Given the description of an element on the screen output the (x, y) to click on. 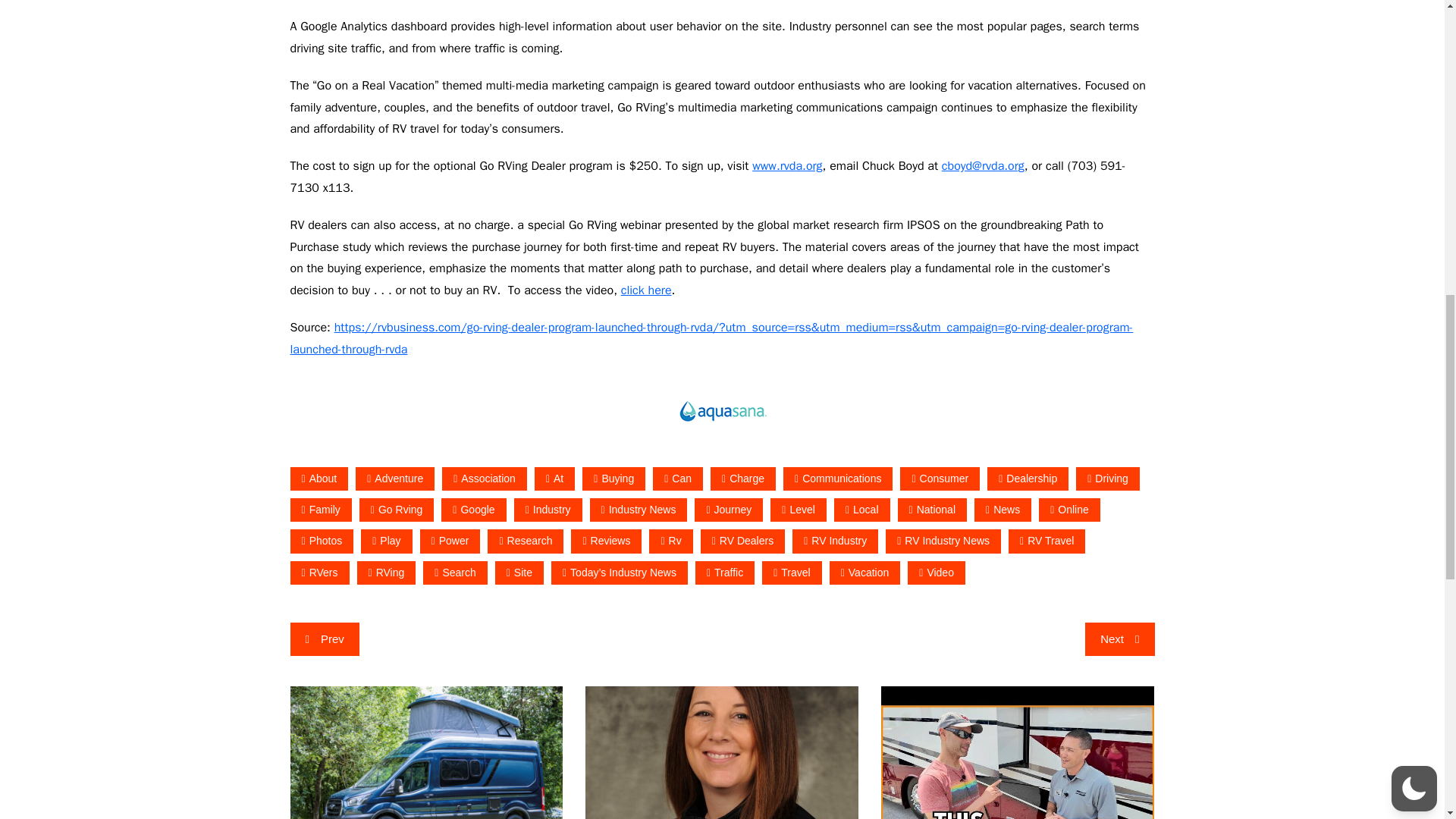
Local (861, 509)
Google (473, 509)
Industry (547, 509)
Family (319, 509)
Level (798, 509)
Journey (728, 509)
Buying (613, 478)
Dealership (1027, 478)
Go Rving (396, 509)
Communications (837, 478)
Can (677, 478)
Driving (1107, 478)
www.rvda.org (787, 165)
Industry News (638, 509)
Charge (743, 478)
